Given the description of an element on the screen output the (x, y) to click on. 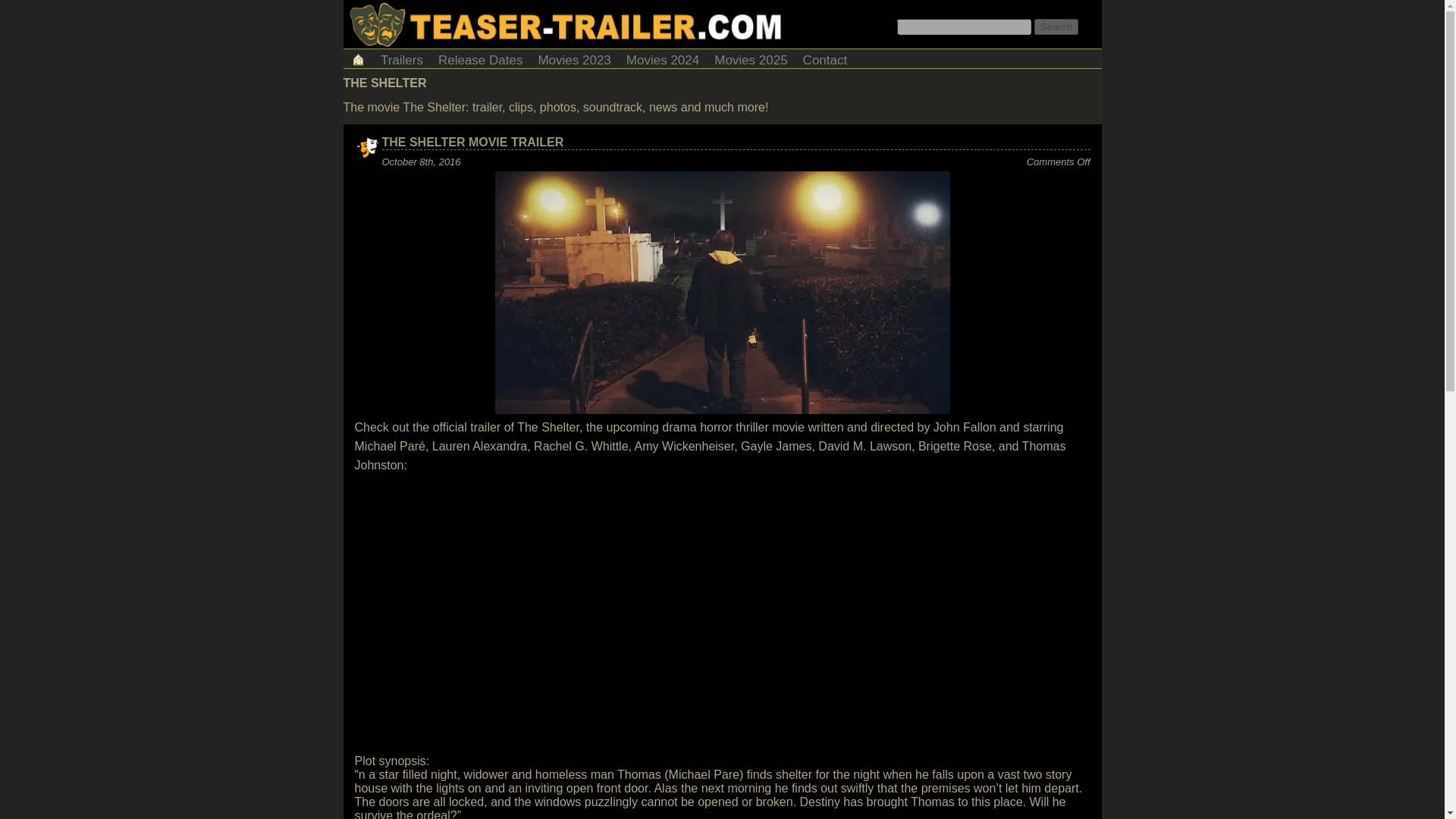
Release Dates (480, 58)
Search (1055, 26)
Trailers (401, 58)
Search (1055, 26)
Movies 2025 (750, 58)
THE SHELTER MOVIE TRAILER (472, 141)
Contact (825, 58)
Home (357, 58)
Movies 2023 (573, 58)
Movies 2024 (662, 58)
